Given the description of an element on the screen output the (x, y) to click on. 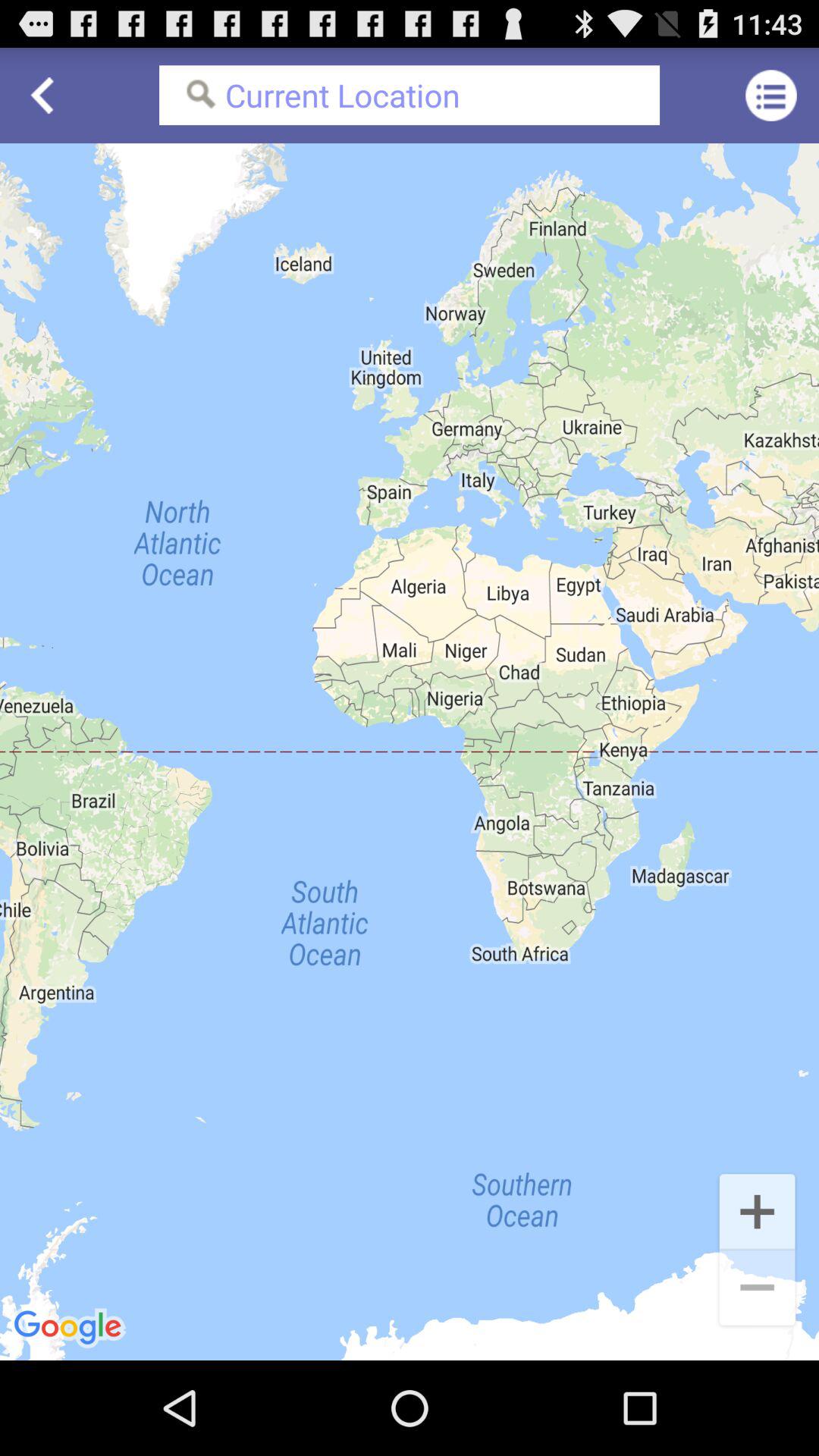
launch item at the center (409, 751)
